Given the description of an element on the screen output the (x, y) to click on. 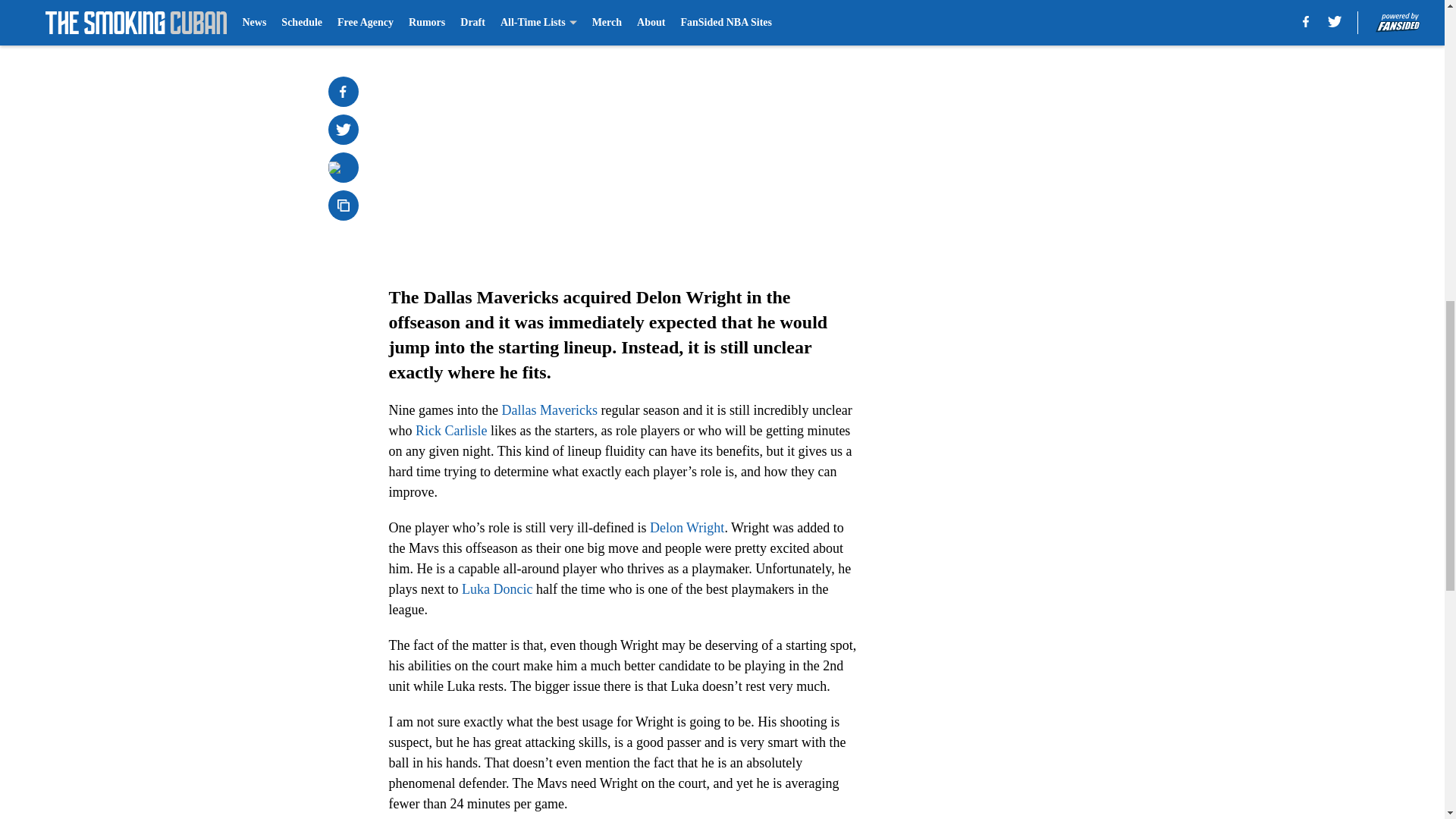
Delon Wright (686, 527)
Rick Carlisle (450, 430)
Luka Doncic (496, 589)
Dallas Mavericks (548, 409)
